Given the description of an element on the screen output the (x, y) to click on. 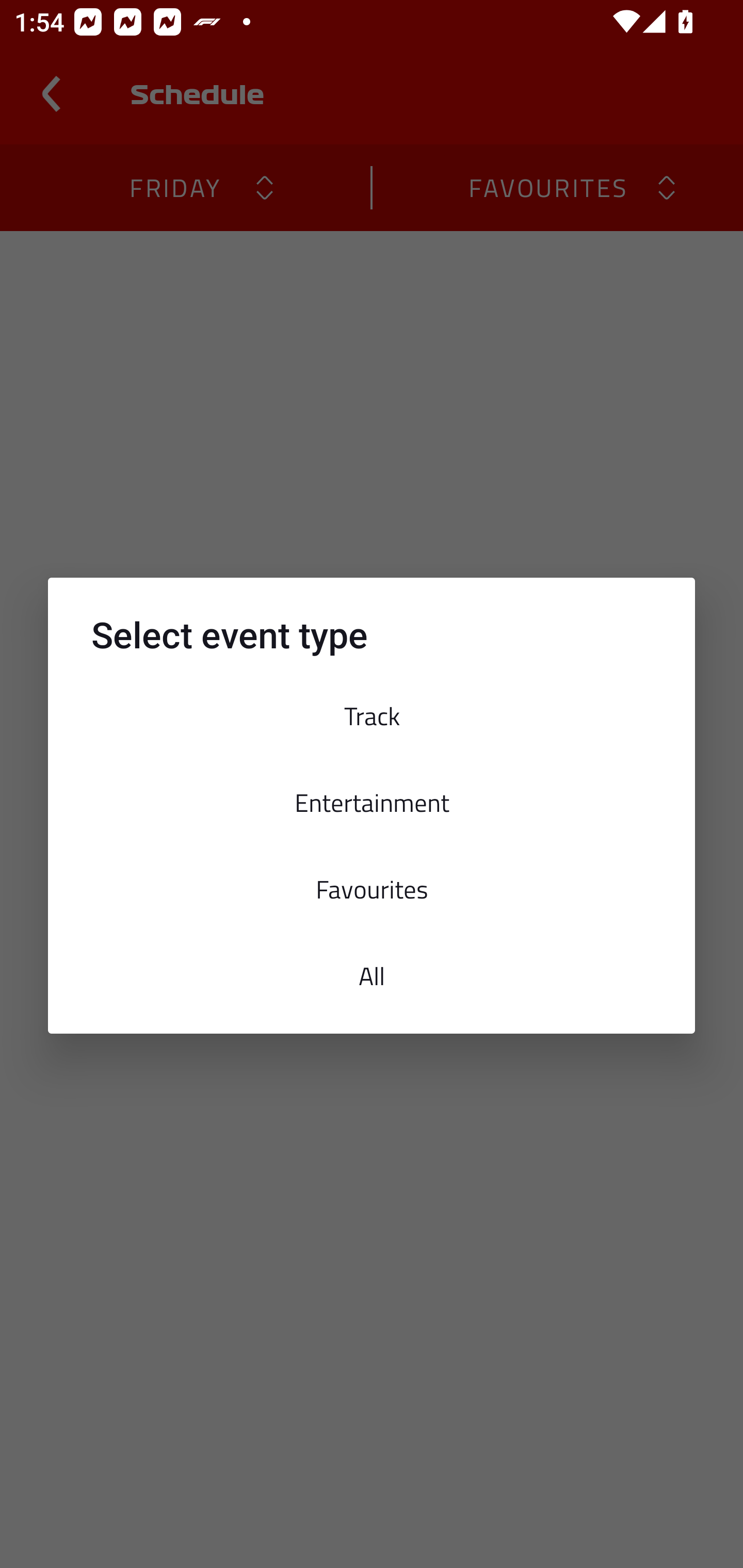
Track (371, 715)
Entertainment (371, 801)
Favourites (371, 888)
All (371, 975)
